Given the description of an element on the screen output the (x, y) to click on. 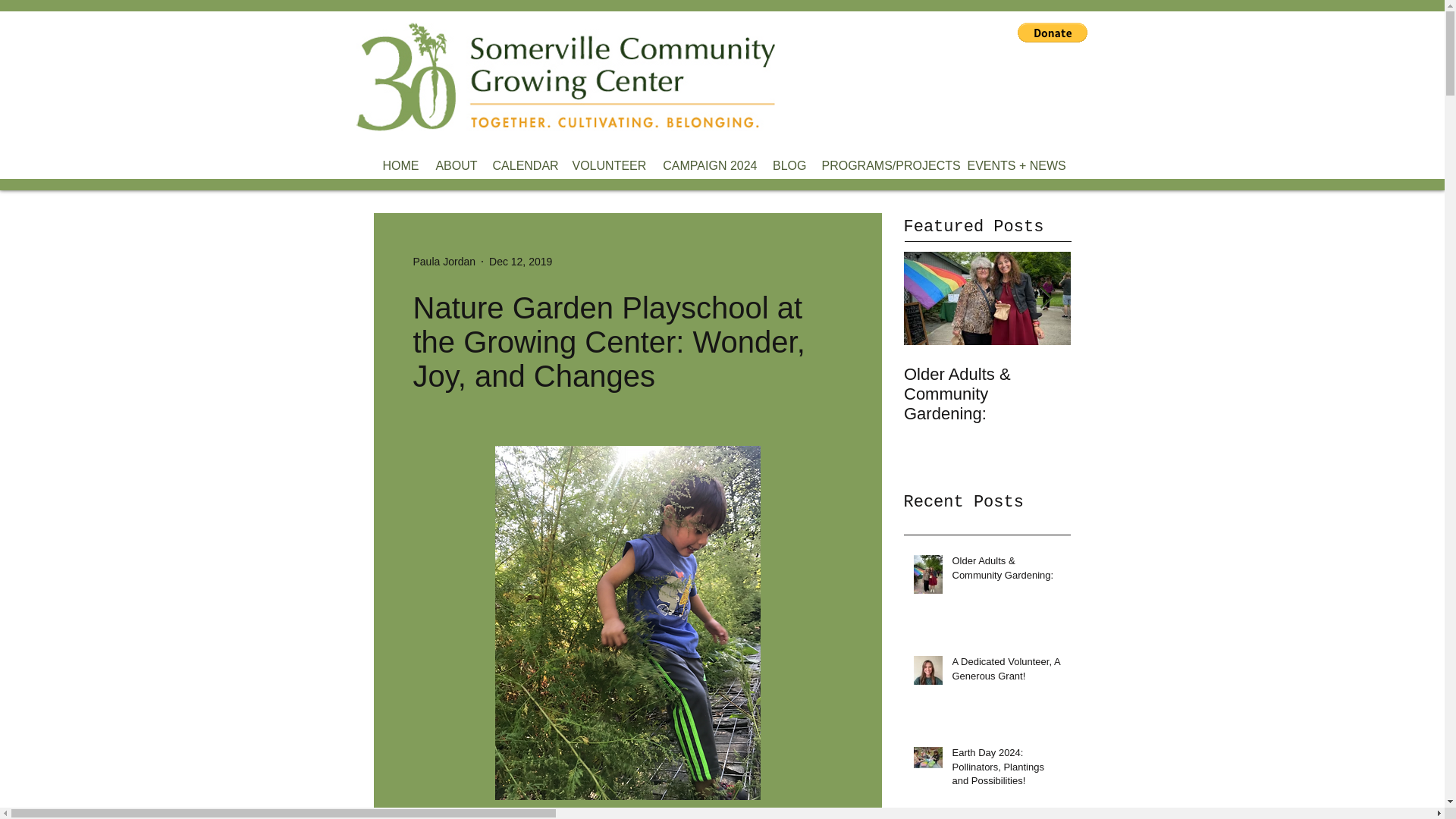
ABOUT (455, 166)
CALENDAR (524, 166)
new-header-name2.gif (565, 76)
Paula Jordan (444, 261)
HOME (398, 166)
CAMPAIGN 2024 (706, 166)
BLOG (788, 166)
VOLUNTEER (606, 166)
Dec 12, 2019 (520, 260)
